Given the description of an element on the screen output the (x, y) to click on. 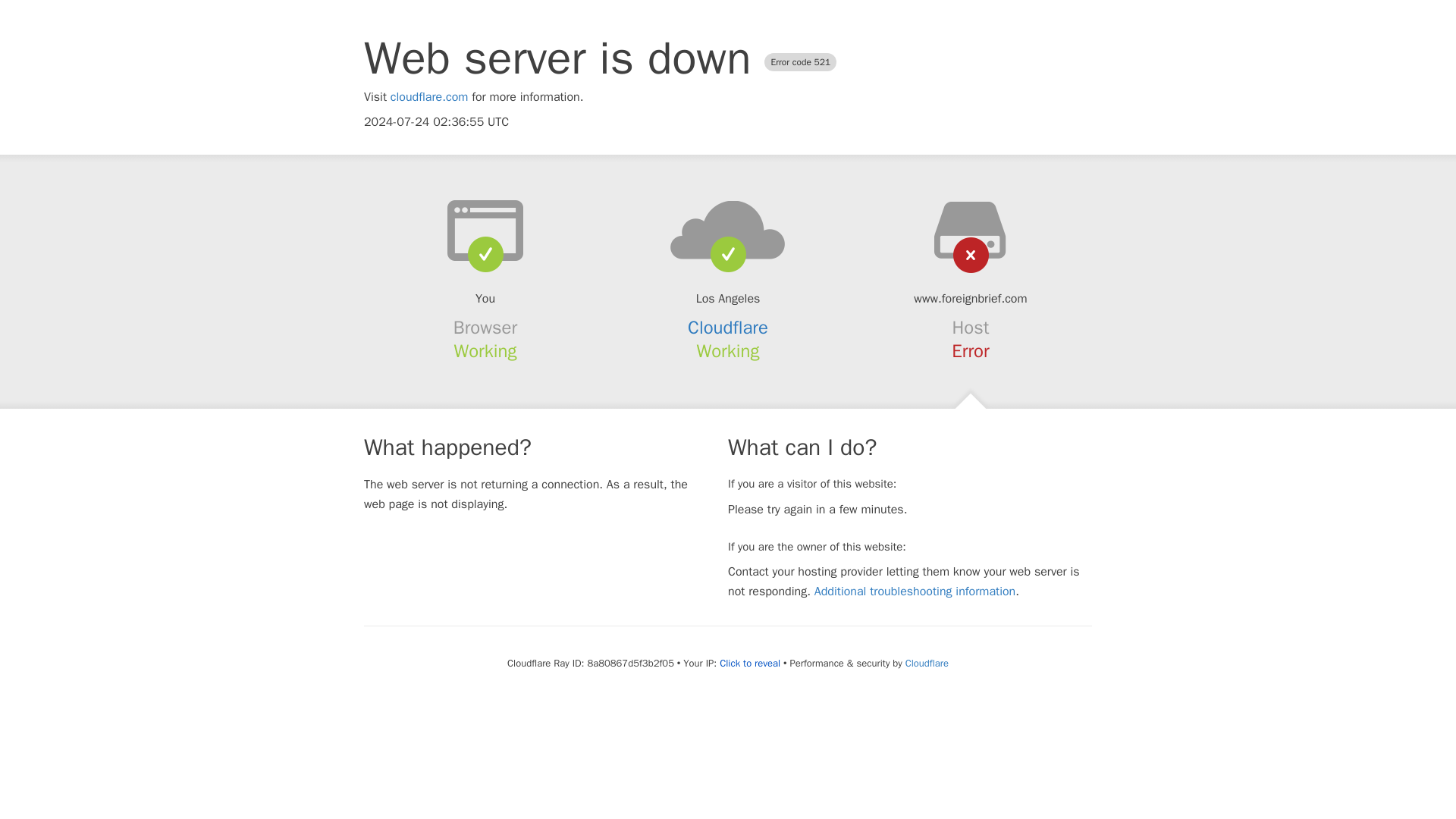
Additional troubleshooting information (913, 590)
cloudflare.com (429, 96)
Cloudflare (927, 662)
Click to reveal (749, 663)
Cloudflare (727, 327)
